Given the description of an element on the screen output the (x, y) to click on. 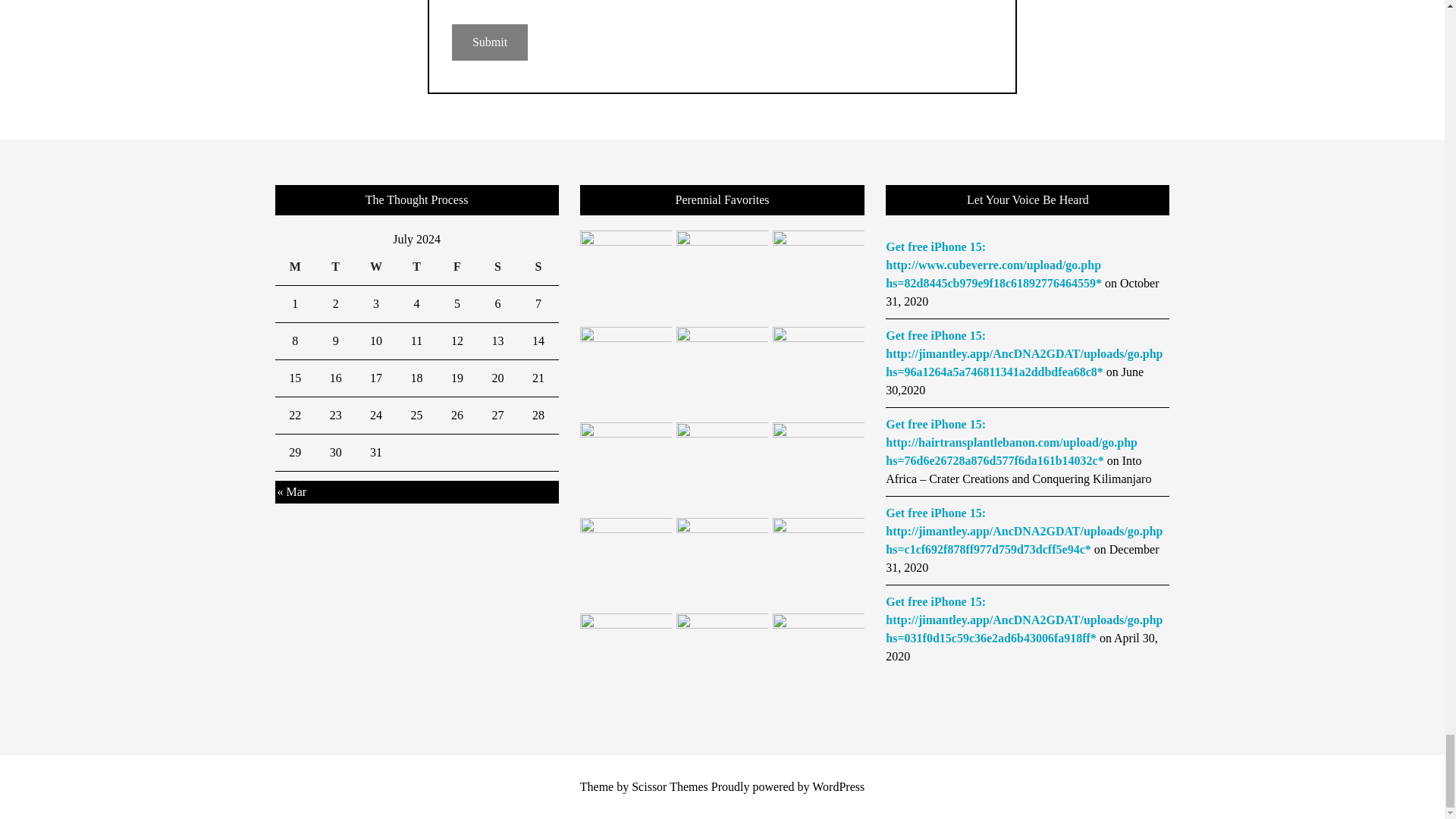
Wednesday (375, 266)
Saturday (497, 266)
Monday (294, 266)
Sunday (538, 266)
Tuesday (335, 266)
Submit (489, 42)
Thursday (416, 266)
Friday (456, 266)
